Given the description of an element on the screen output the (x, y) to click on. 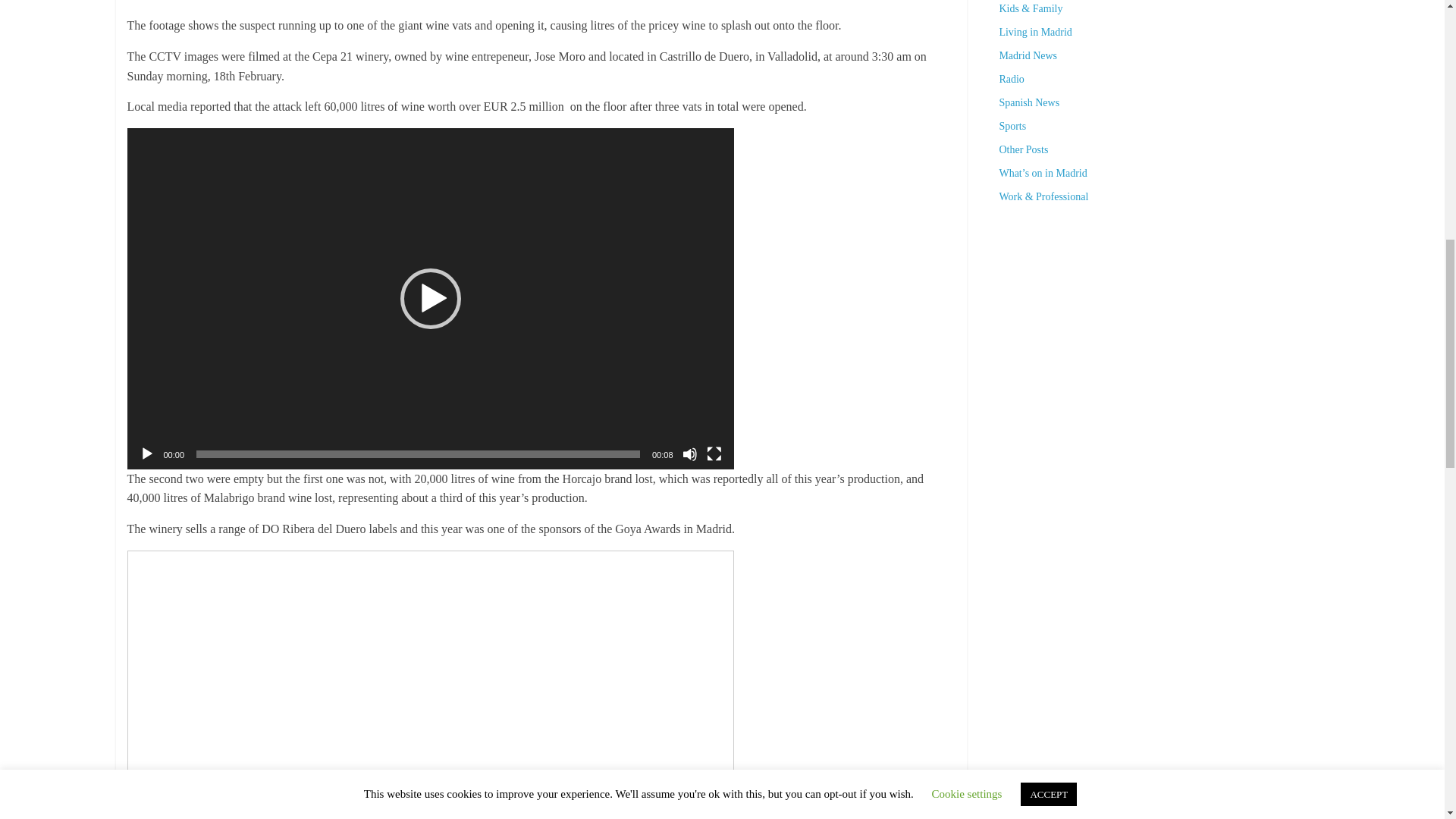
Fullscreen (714, 453)
Play (146, 453)
Mute (689, 453)
